Given the description of an element on the screen output the (x, y) to click on. 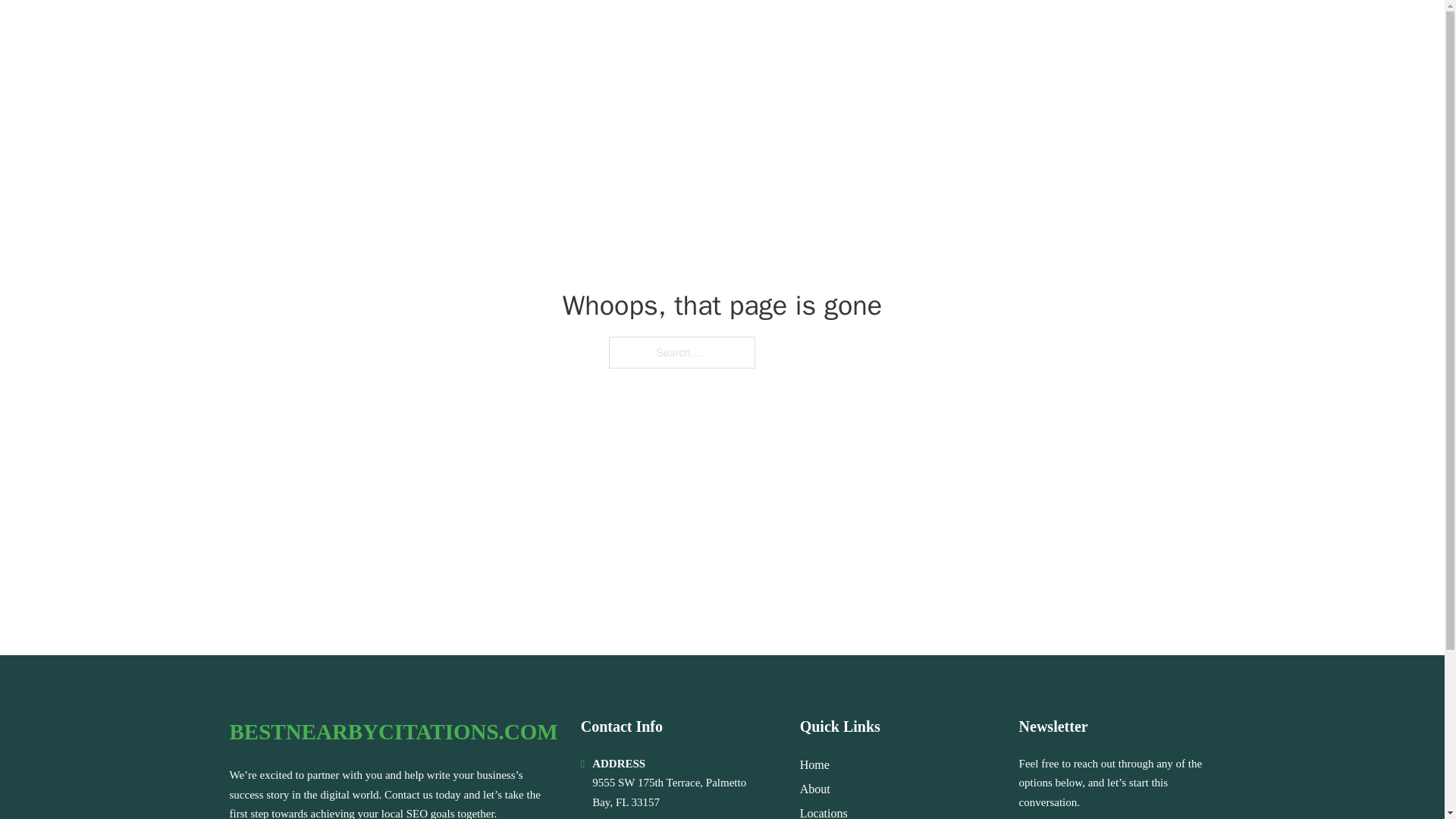
Home (814, 764)
LOCATIONS (1075, 31)
BESTNEARBYCITATIONS.COM (392, 732)
About (814, 788)
BESTNEARBYCITATIONS.COM (409, 31)
Locations (823, 811)
HOME (1002, 31)
